Given the description of an element on the screen output the (x, y) to click on. 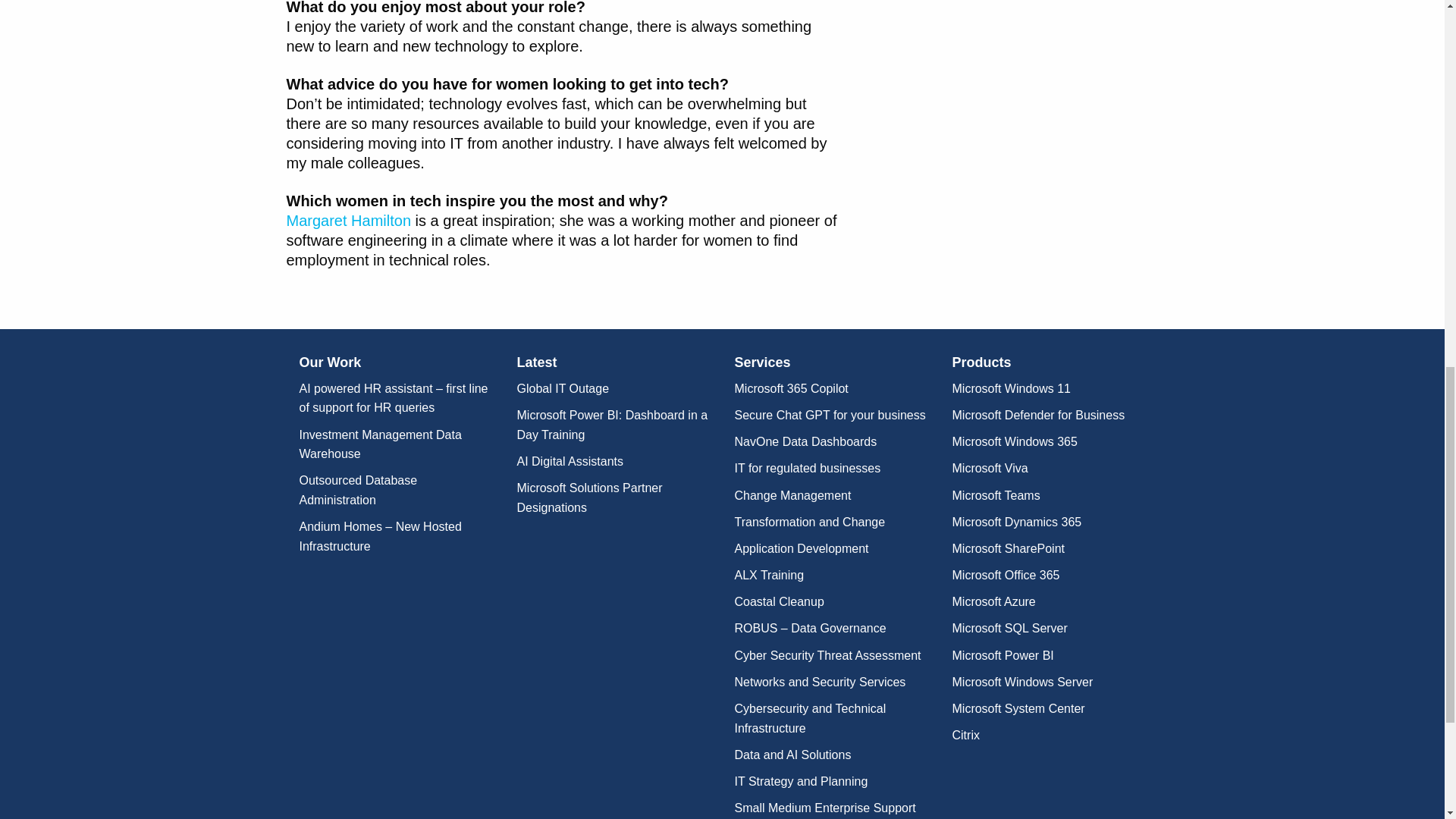
Margaret Hamilton (349, 220)
